Given the description of an element on the screen output the (x, y) to click on. 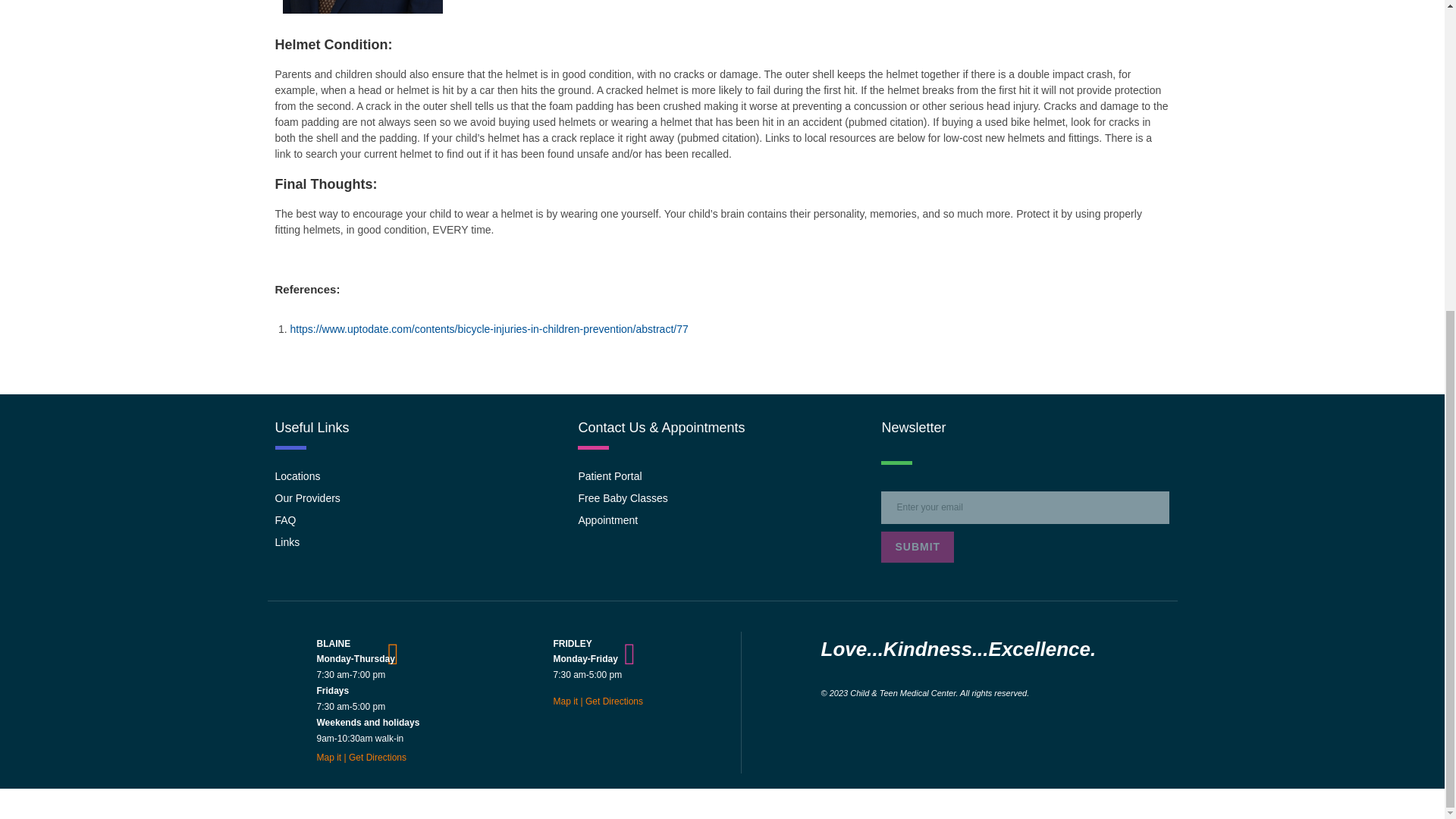
Map it (565, 701)
Get Directions   (380, 757)
Free Baby Classes (722, 498)
SUBMIT (916, 546)
Our Providers (418, 498)
Map it (329, 757)
FAQ (418, 520)
Links (418, 542)
Patient Portal (722, 476)
Locations (418, 476)
